Given the description of an element on the screen output the (x, y) to click on. 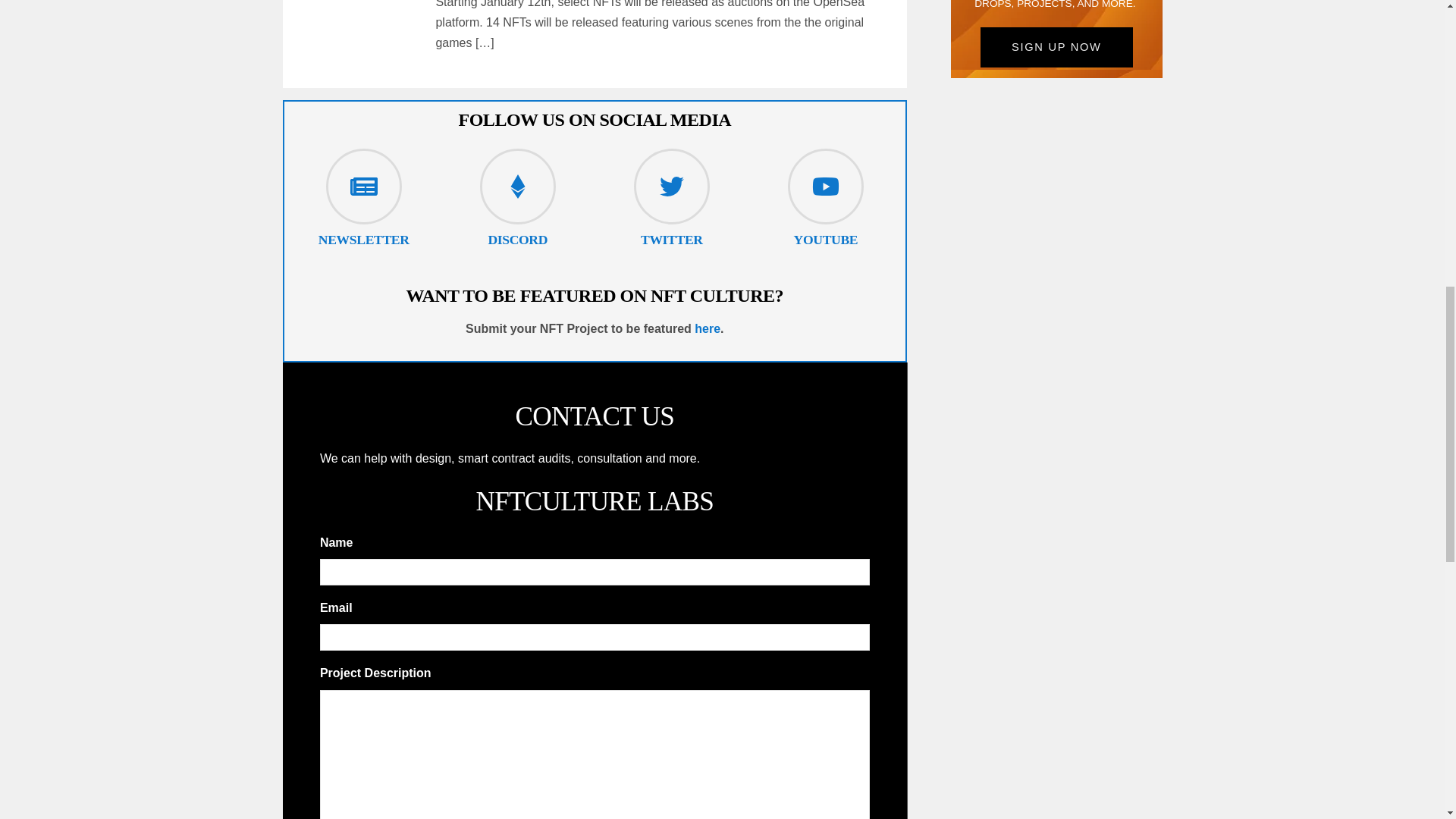
YOUTUBE (826, 239)
here (707, 328)
TWITTER (671, 239)
DISCORD (517, 239)
NEWSLETTER (363, 239)
